Given the description of an element on the screen output the (x, y) to click on. 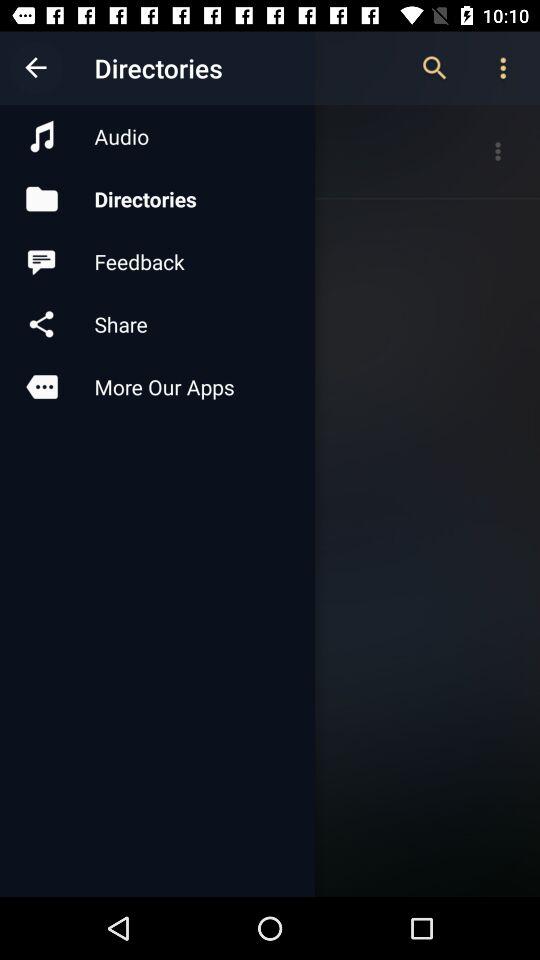
tap the more our apps item (157, 386)
